Given the description of an element on the screen output the (x, y) to click on. 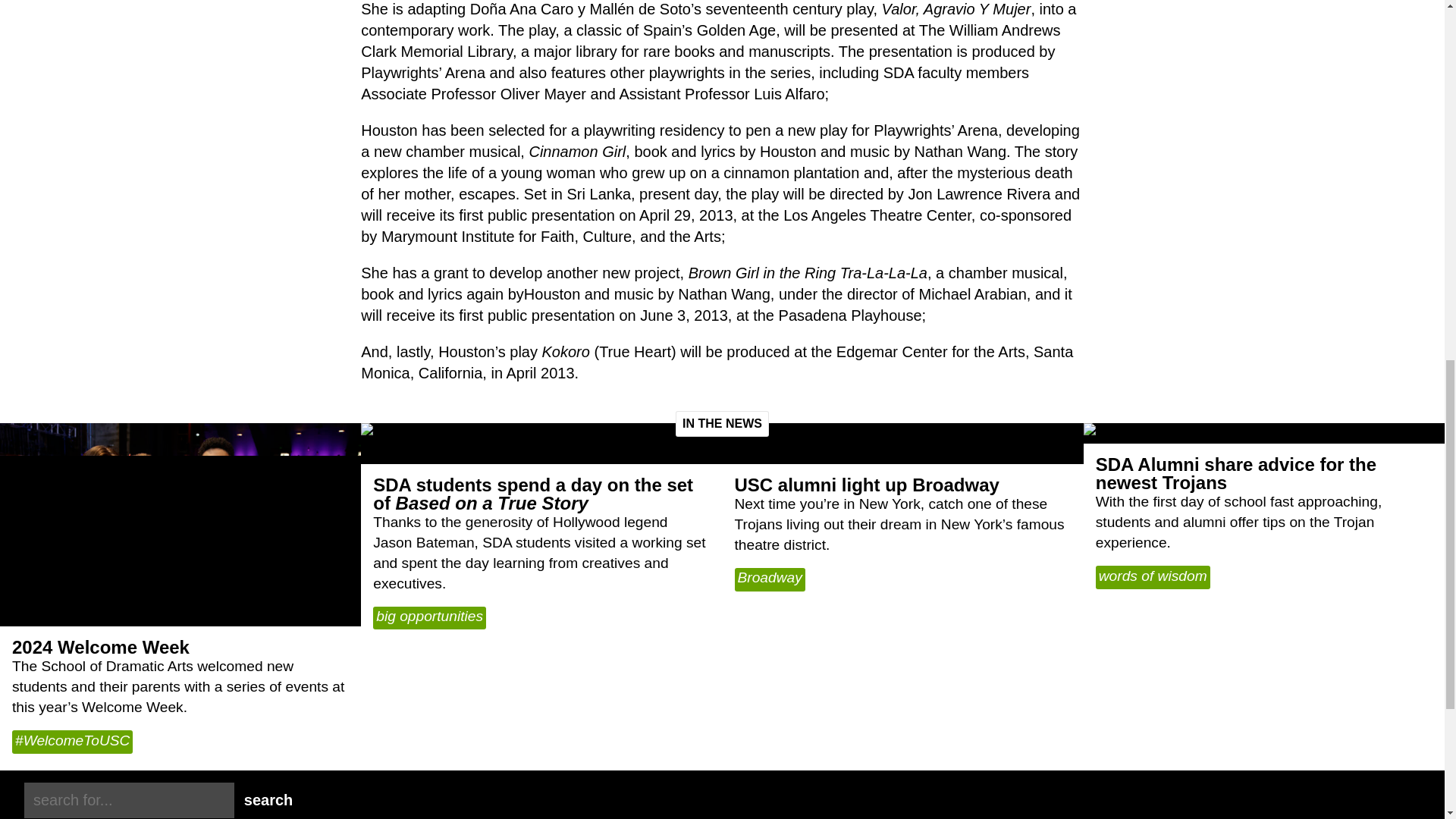
search (268, 799)
IN THE NEWS (721, 422)
search (129, 800)
